Given the description of an element on the screen output the (x, y) to click on. 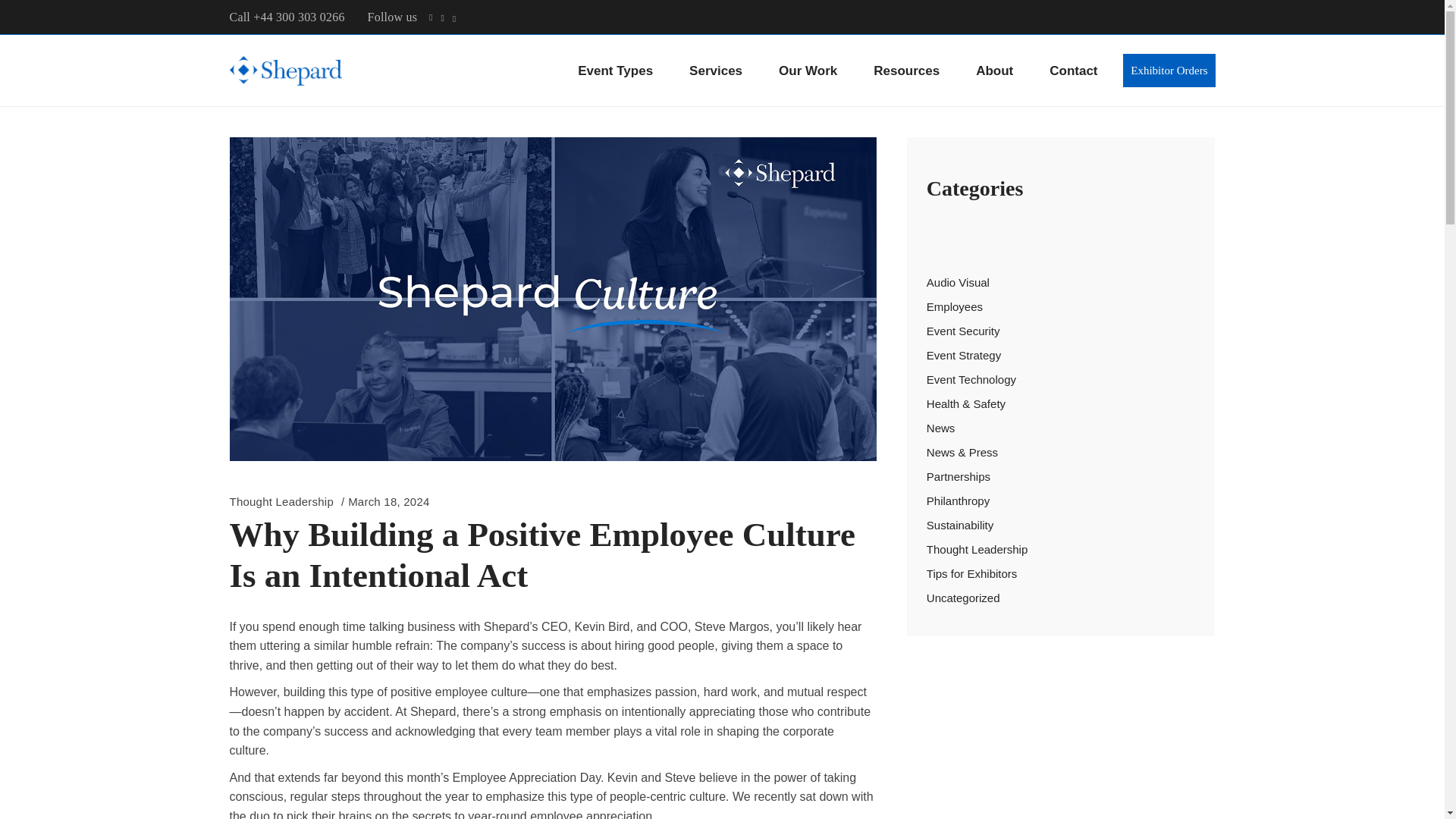
Resources (907, 70)
Event Types (615, 70)
Our Work (808, 70)
Services (715, 70)
